Given the description of an element on the screen output the (x, y) to click on. 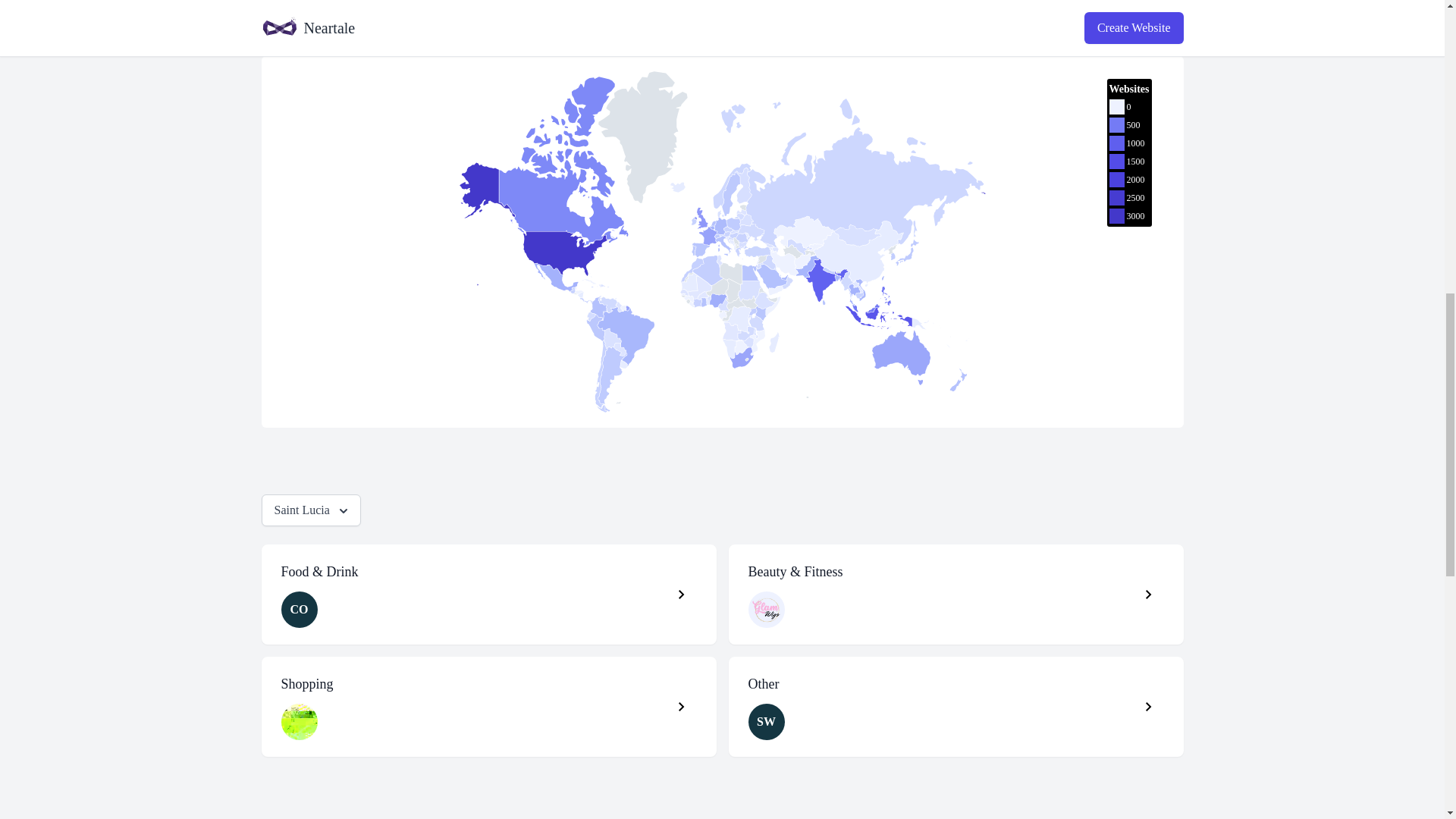
Saint Lucia (309, 510)
